Given the description of an element on the screen output the (x, y) to click on. 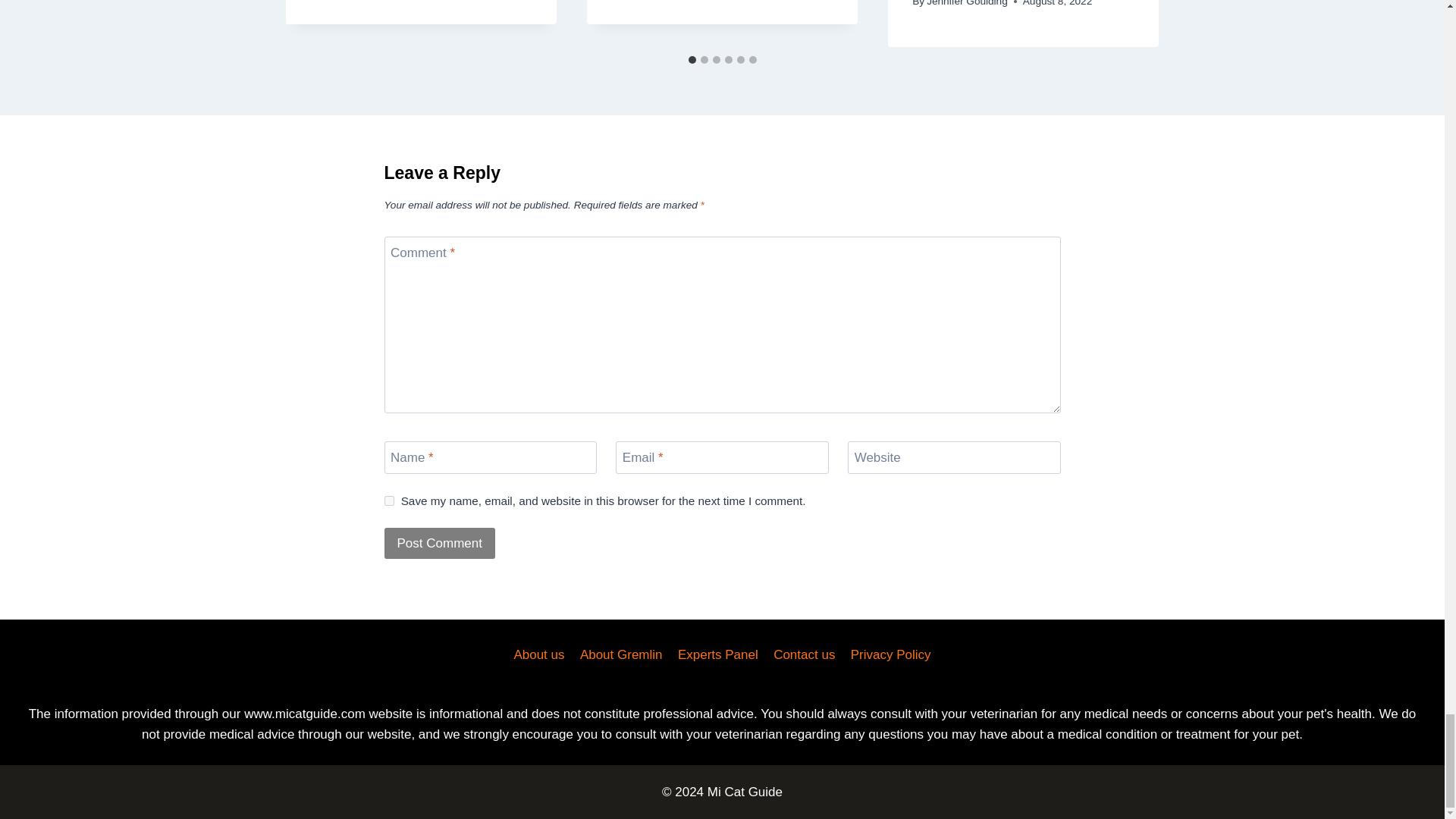
Post Comment (439, 542)
yes (388, 501)
